Given the description of an element on the screen output the (x, y) to click on. 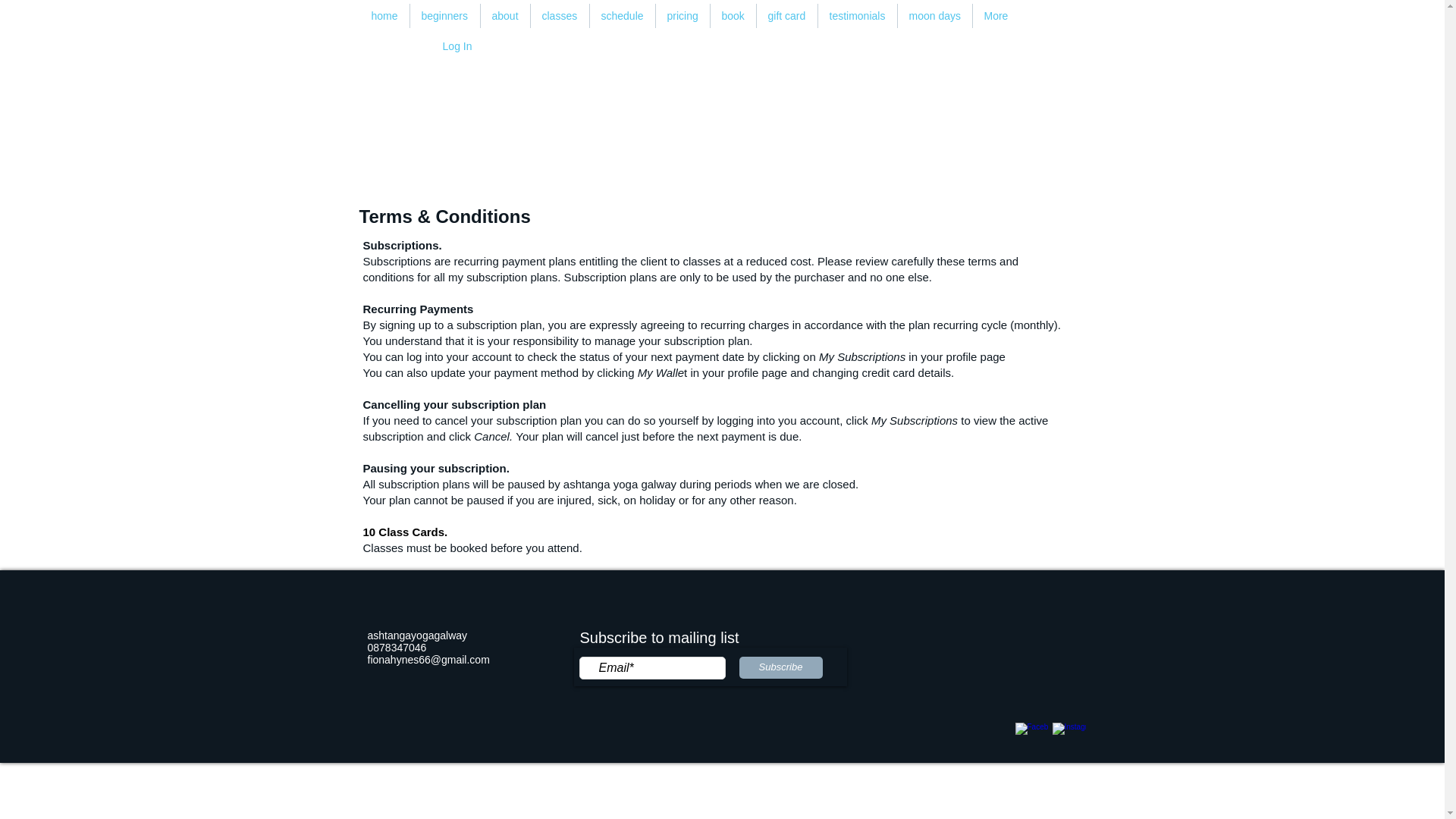
book (732, 15)
beginners (444, 15)
pricing (682, 15)
schedule (622, 15)
Subscribe (780, 667)
gift card (786, 15)
classes (560, 15)
moon days (935, 15)
Log In (457, 46)
home (384, 15)
